Given the description of an element on the screen output the (x, y) to click on. 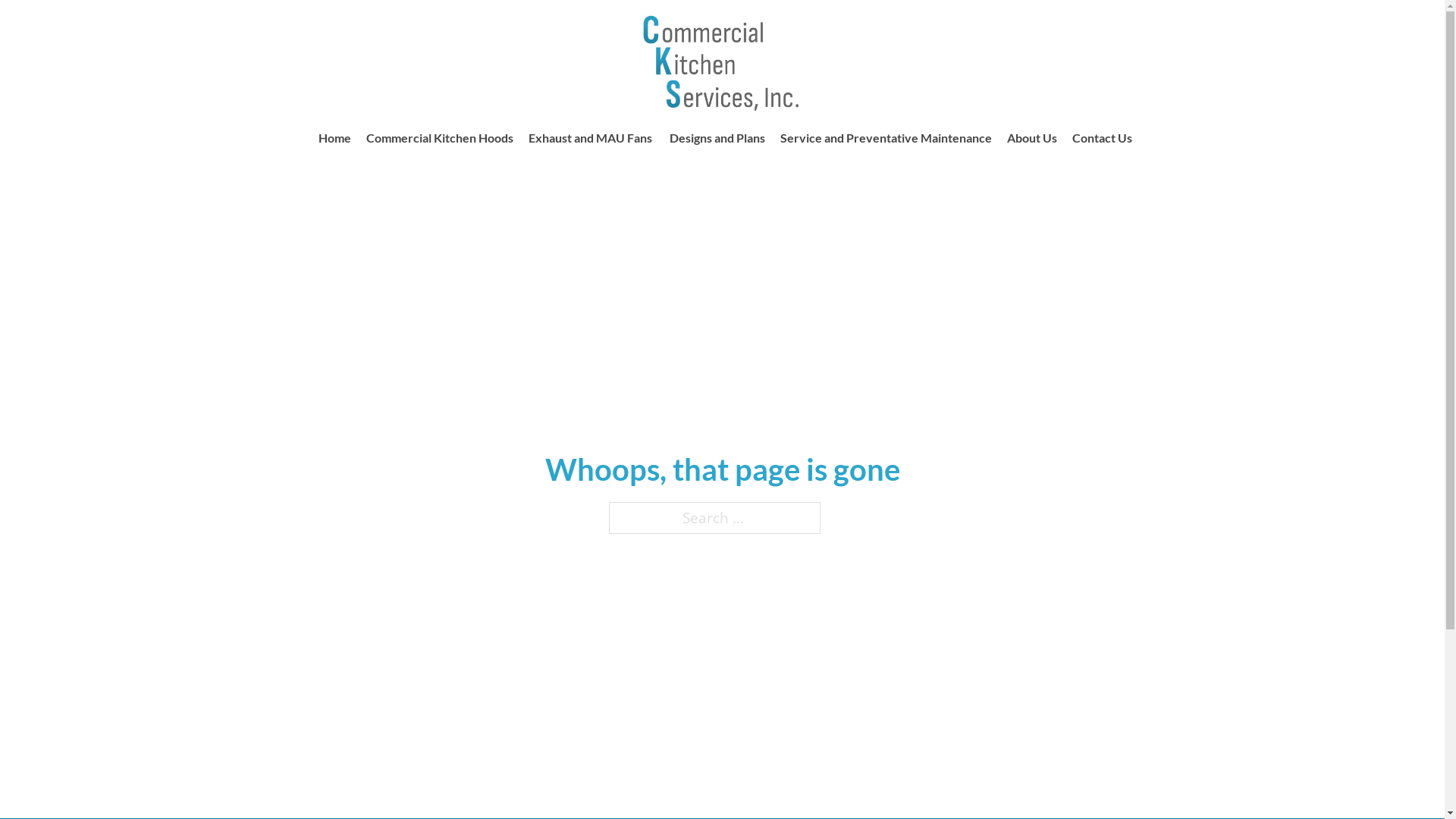
About Us Element type: text (1032, 137)
Exhaust and MAU Fans  Element type: text (590, 137)
Contact Us Element type: text (1102, 137)
Service and Preventative Maintenance Element type: text (885, 137)
Home Element type: text (334, 137)
Designs and Plans Element type: text (716, 137)
Commercial Kitchen Hoods Element type: text (438, 137)
